Given the description of an element on the screen output the (x, y) to click on. 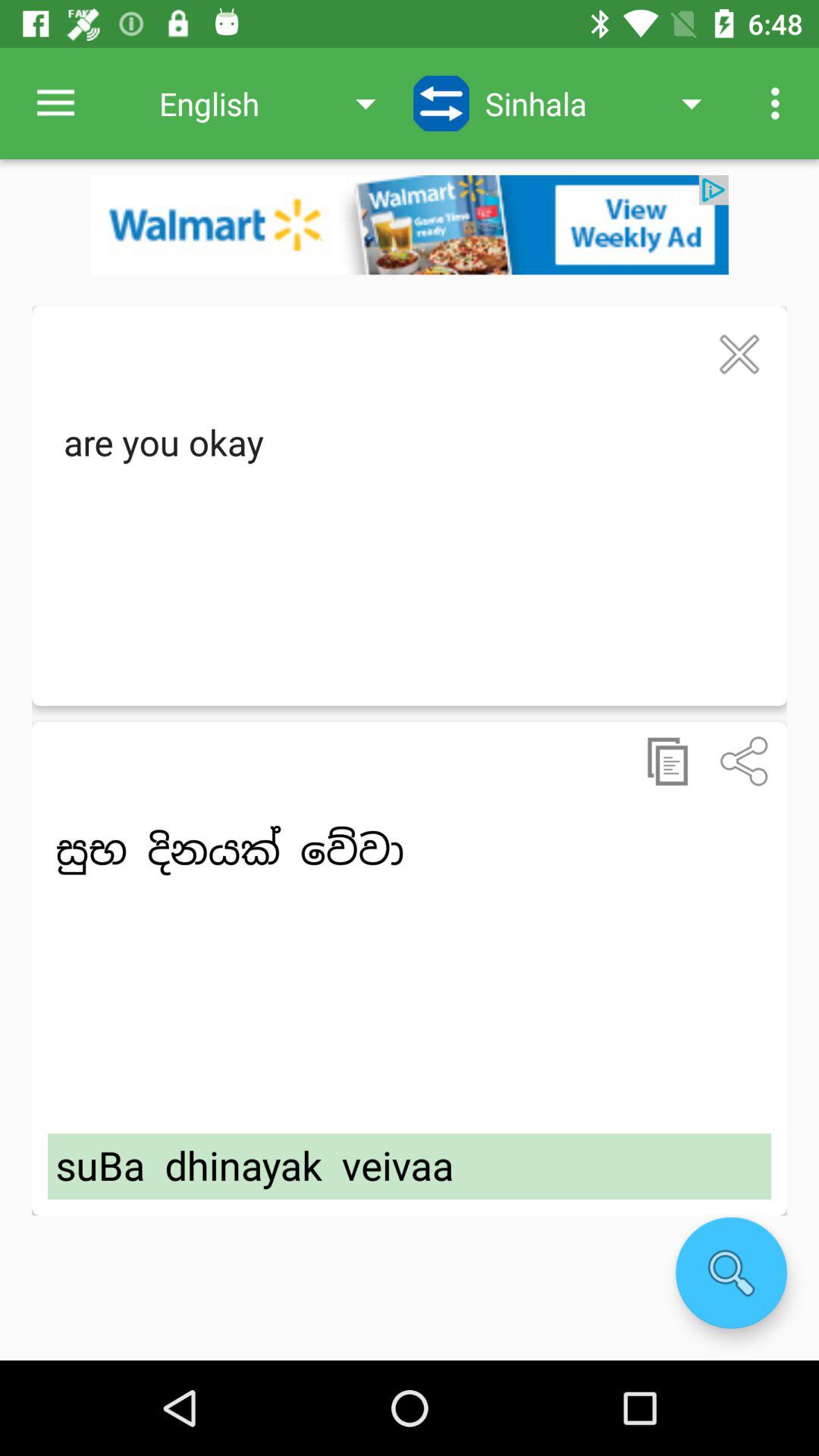
tap the are you okay (409, 545)
